Given the description of an element on the screen output the (x, y) to click on. 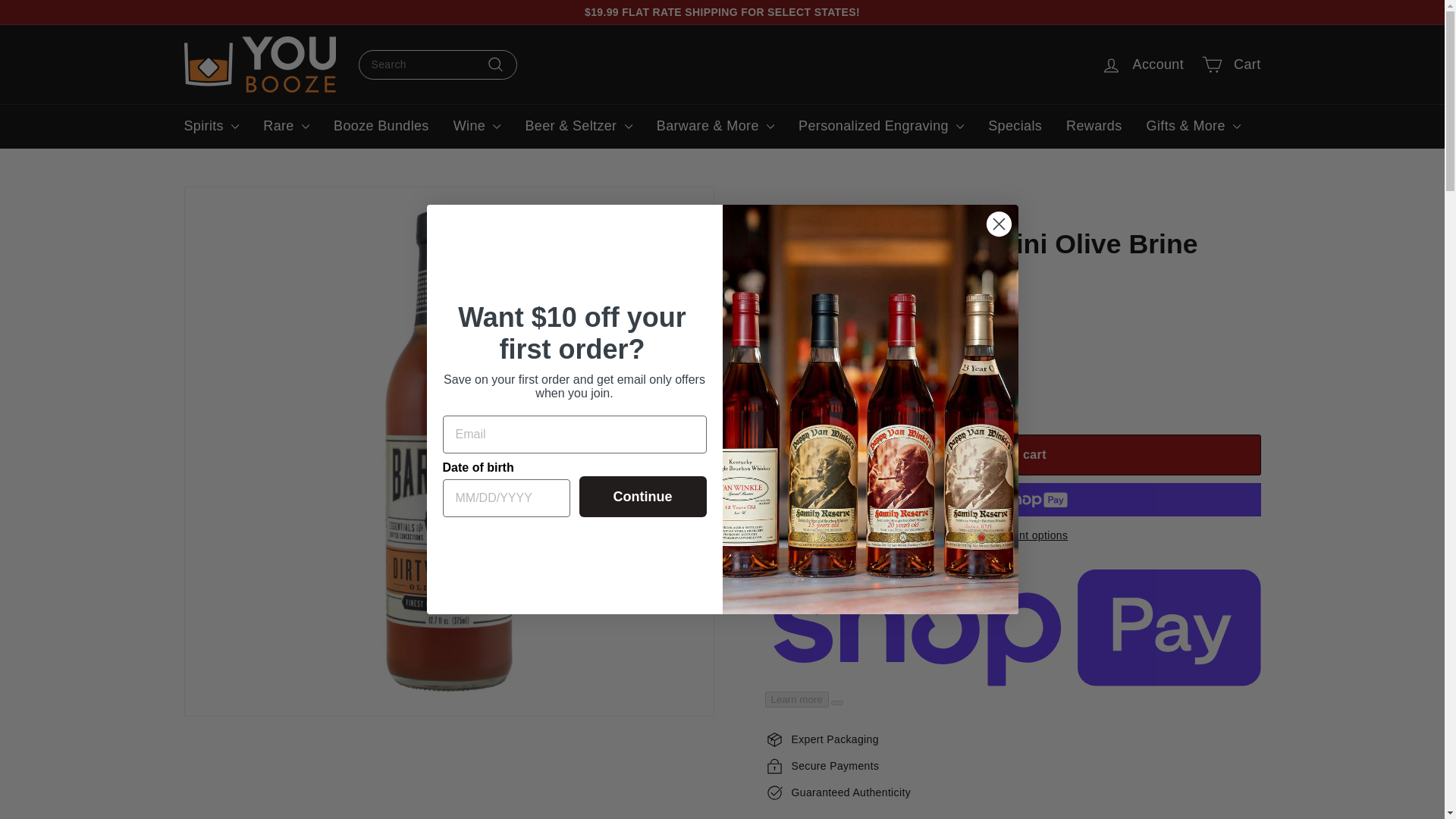
Barsmith (786, 308)
Account (1142, 63)
Cart (1230, 63)
